Given the description of an element on the screen output the (x, y) to click on. 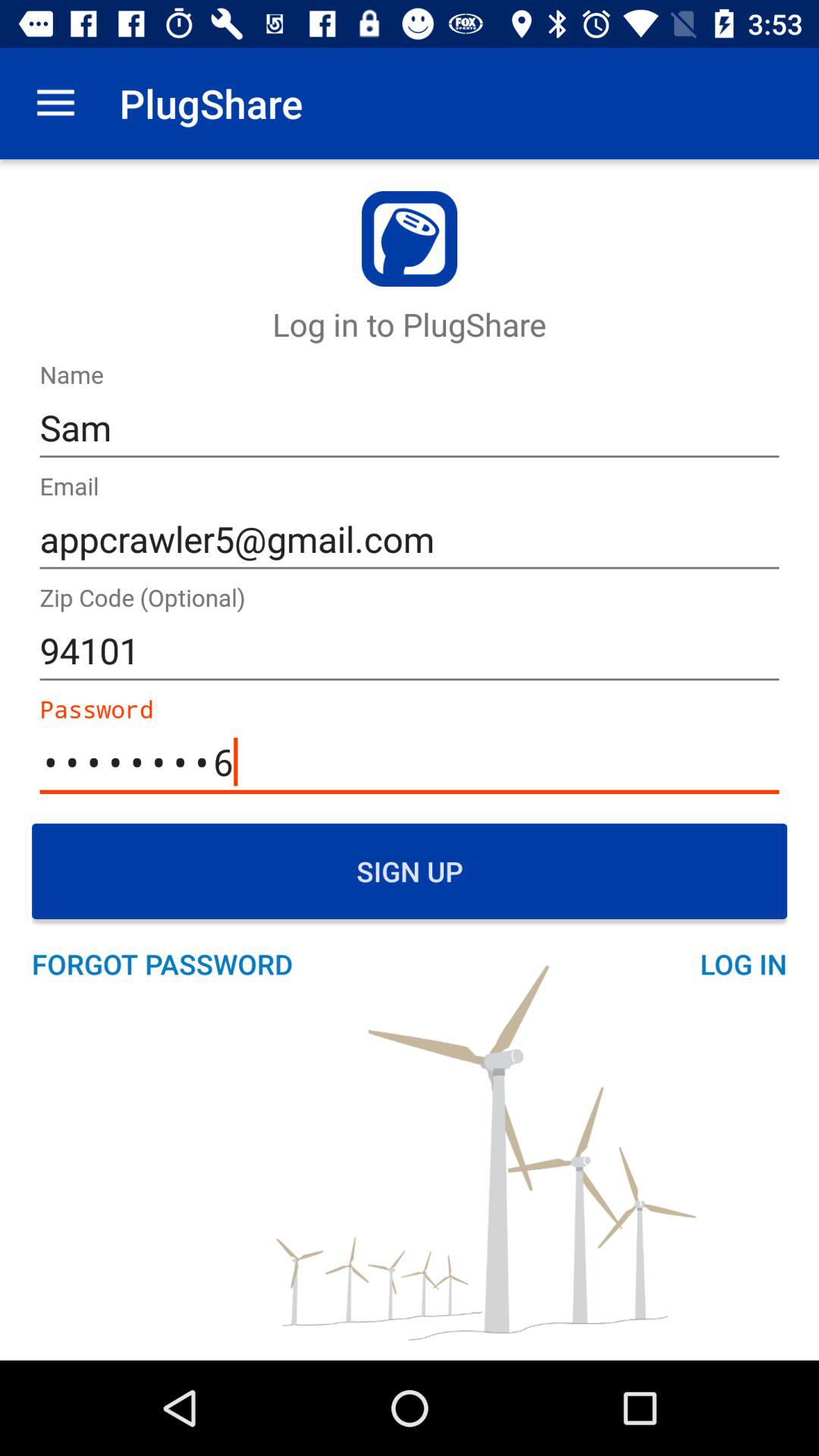
click item below appcrawler5@gmail.com item (409, 651)
